Given the description of an element on the screen output the (x, y) to click on. 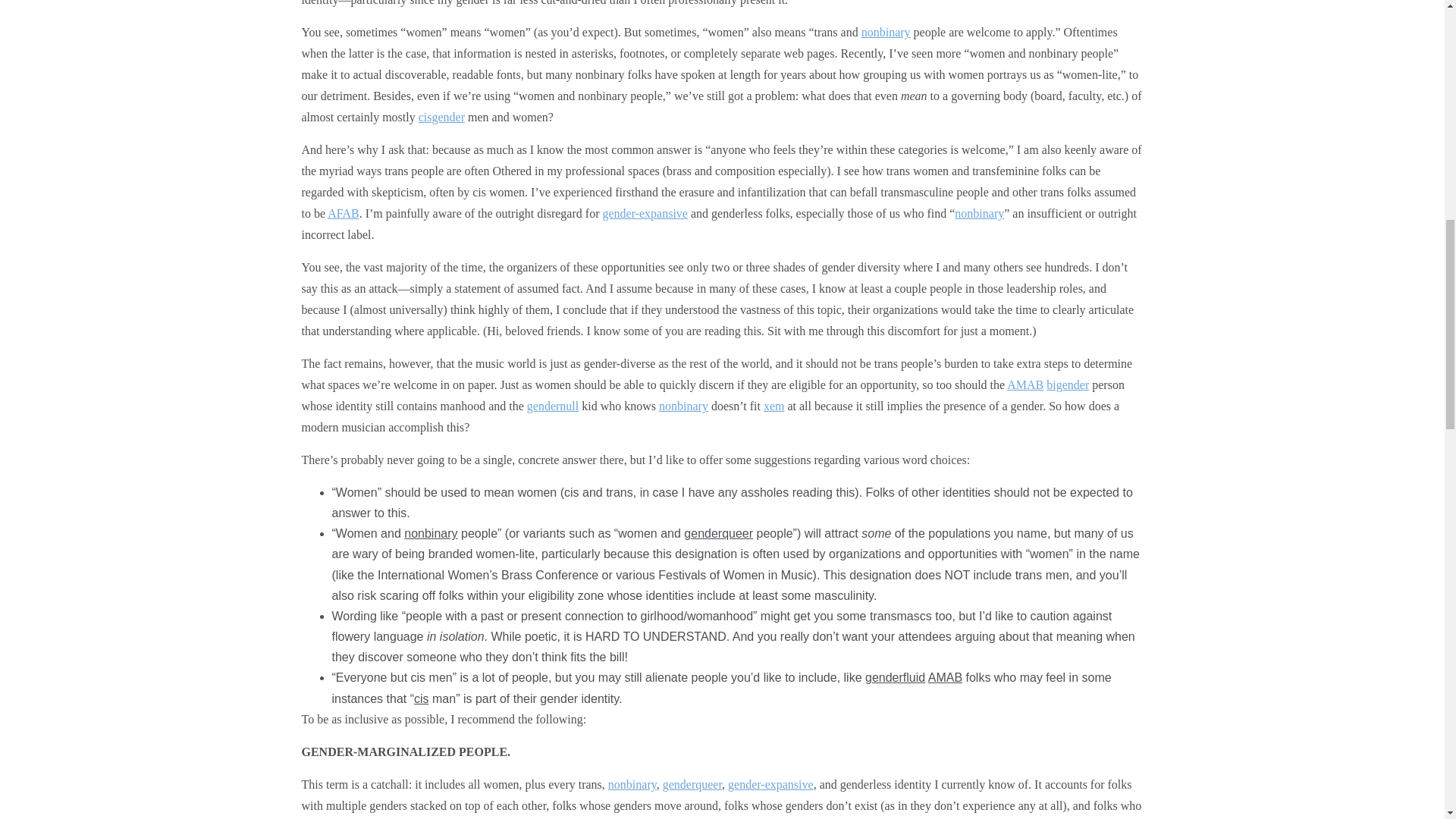
AMAB (1025, 384)
nonbinary (886, 31)
nonbinary (683, 405)
bigender (1067, 384)
cisgender (441, 116)
nonbinary (979, 213)
AFAB (343, 213)
gender-expansive (644, 213)
gendernull (552, 405)
